Given the description of an element on the screen output the (x, y) to click on. 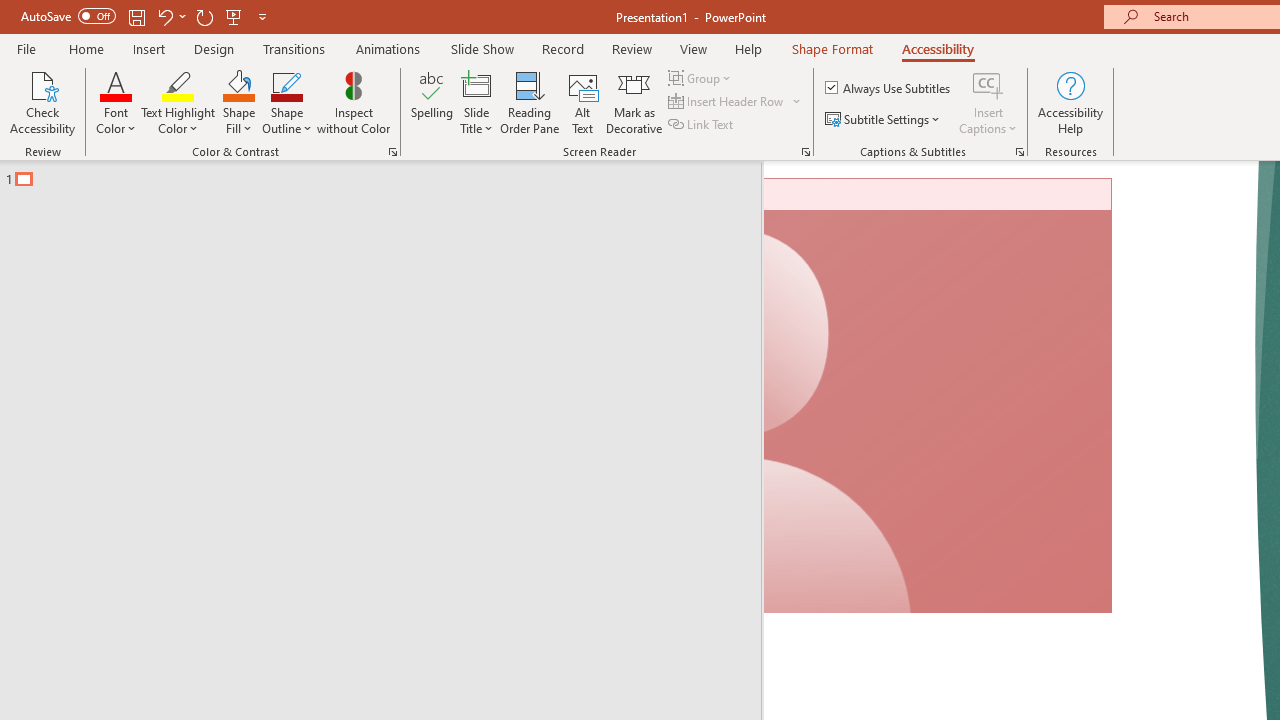
Shape Outline (286, 102)
Shape Fill (238, 102)
Screen Reader (805, 151)
Insert Captions (988, 84)
Accessibility (937, 48)
Check Accessibility (42, 102)
Font Color Red (116, 84)
Insert Header Row (727, 101)
Camera 7, No camera detected. (938, 395)
Inspect without Color (353, 102)
